Given the description of an element on the screen output the (x, y) to click on. 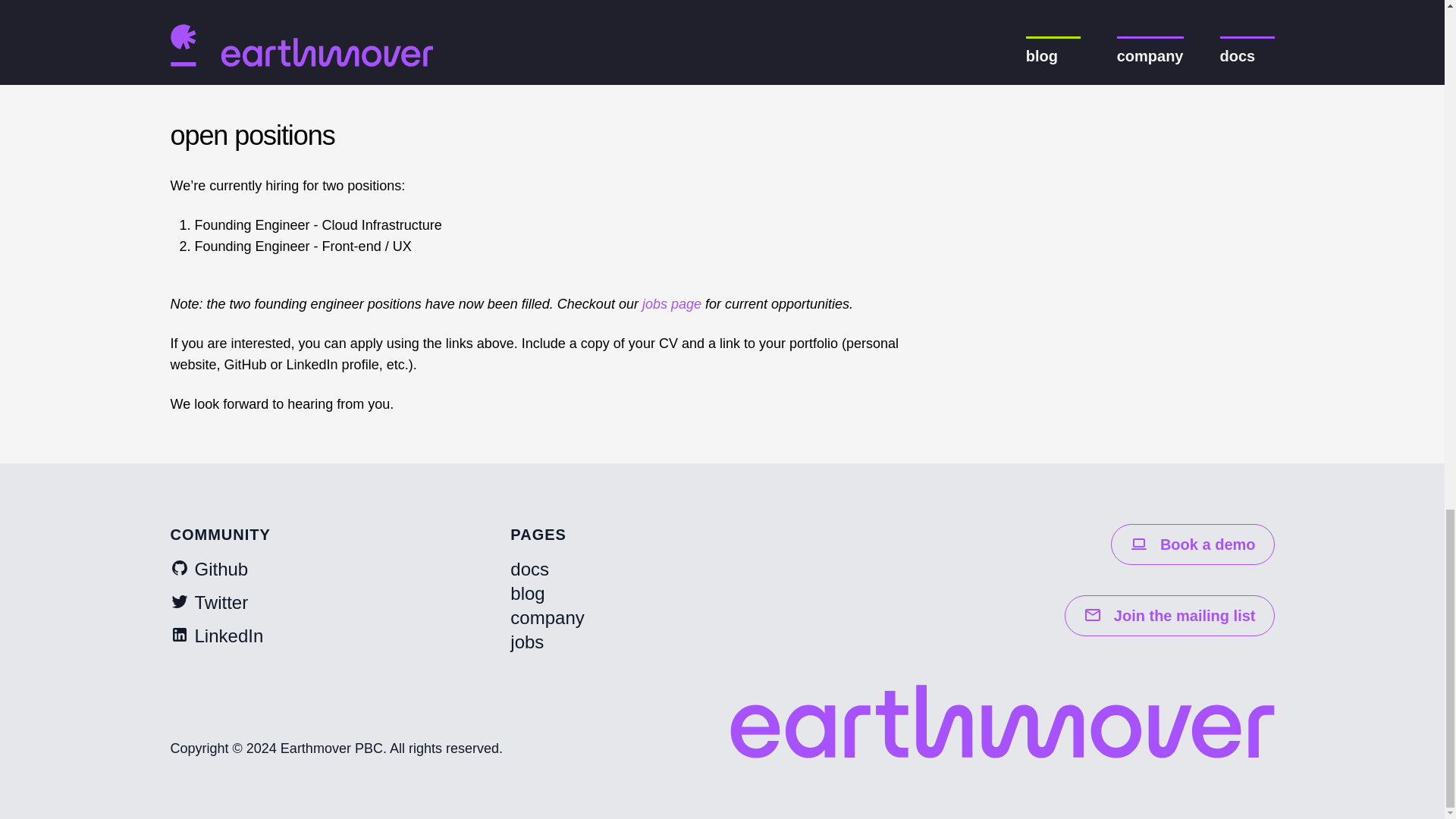
Twitter (208, 602)
docs (529, 568)
Github (208, 568)
LinkedIn (216, 635)
jobs (527, 641)
jobs page (671, 304)
company (547, 617)
blog (527, 593)
Book a demo (1192, 544)
